Given the description of an element on the screen output the (x, y) to click on. 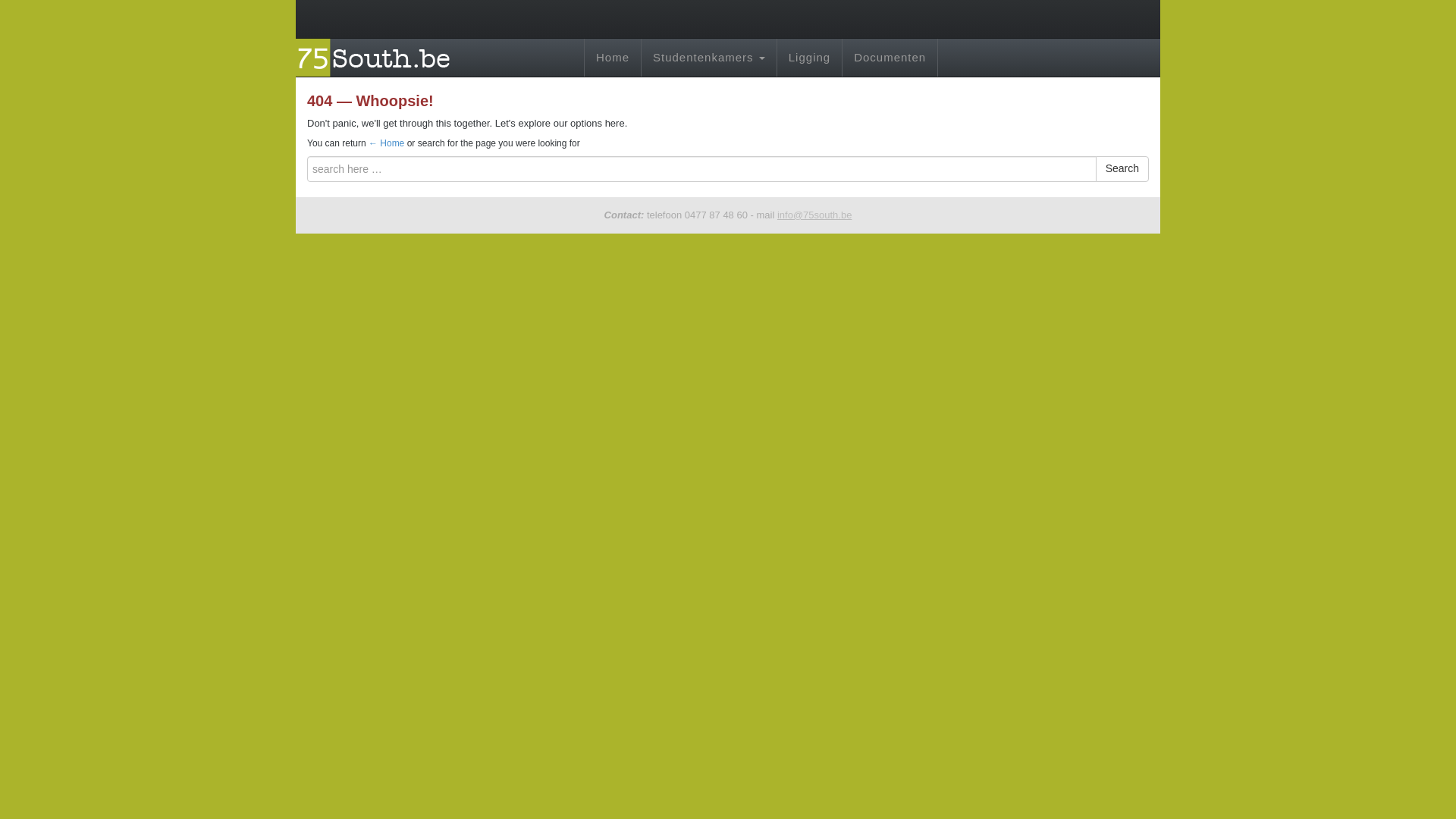
Studentenkamers (709, 57)
Search (1122, 168)
Home (612, 57)
Documenten (890, 57)
Home (386, 143)
75south (377, 56)
Ligging (809, 57)
